Given the description of an element on the screen output the (x, y) to click on. 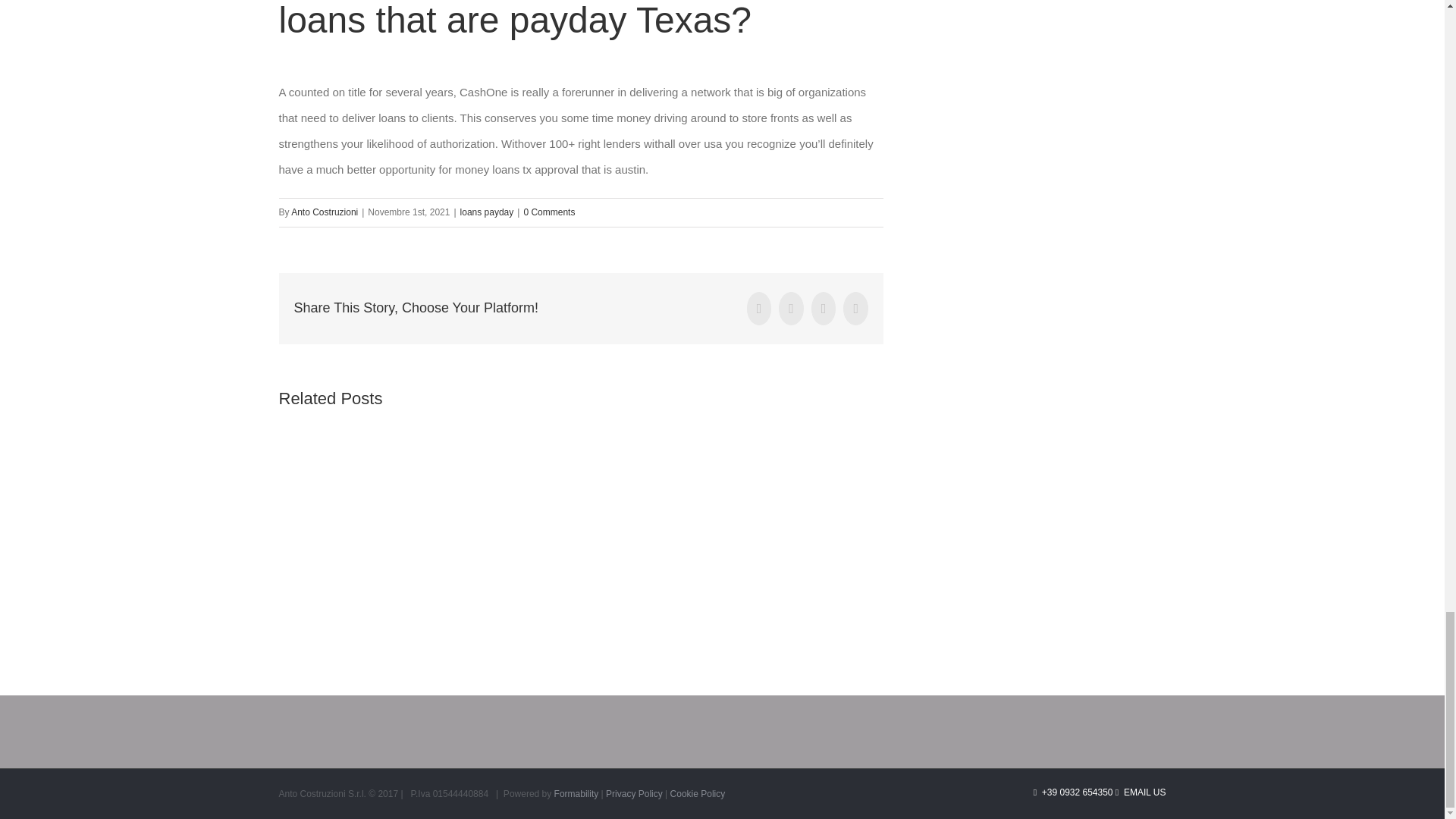
Cookie Policy (697, 793)
loans payday (486, 212)
Privacy Policy (635, 793)
0 Comments (548, 212)
Anto Costruzioni (324, 212)
  EMAIL US (1140, 792)
Articoli scritti da Anto Costruzioni (324, 212)
Formability (576, 793)
